Given the description of an element on the screen output the (x, y) to click on. 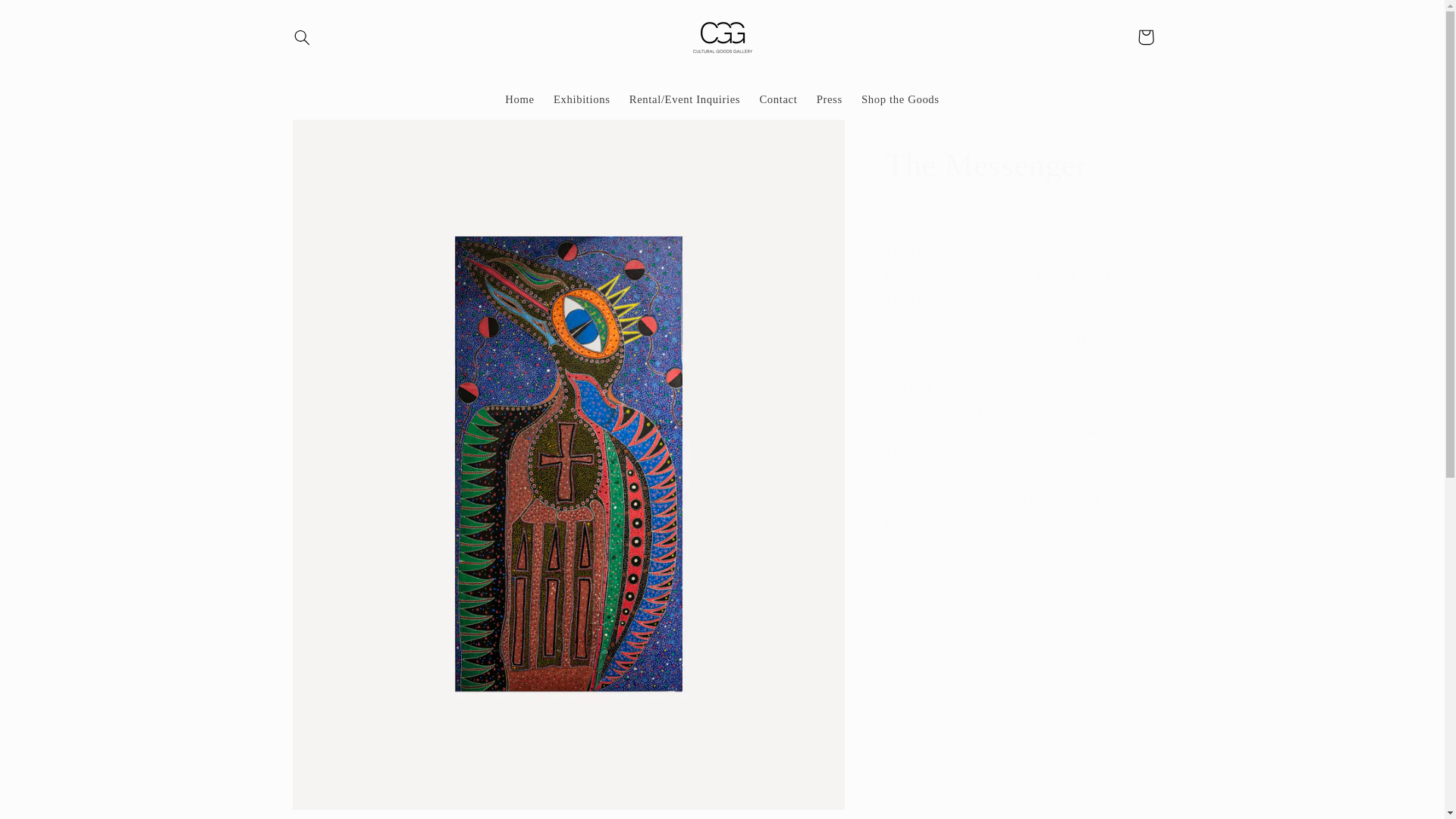
Home (520, 100)
Shop the Goods (900, 100)
Skip to product information (331, 137)
Skip to content (48, 18)
Contact (777, 100)
Exhibitions (581, 100)
Contact us for inquiries. (1010, 577)
Cart (1145, 36)
Press (828, 100)
